Given the description of an element on the screen output the (x, y) to click on. 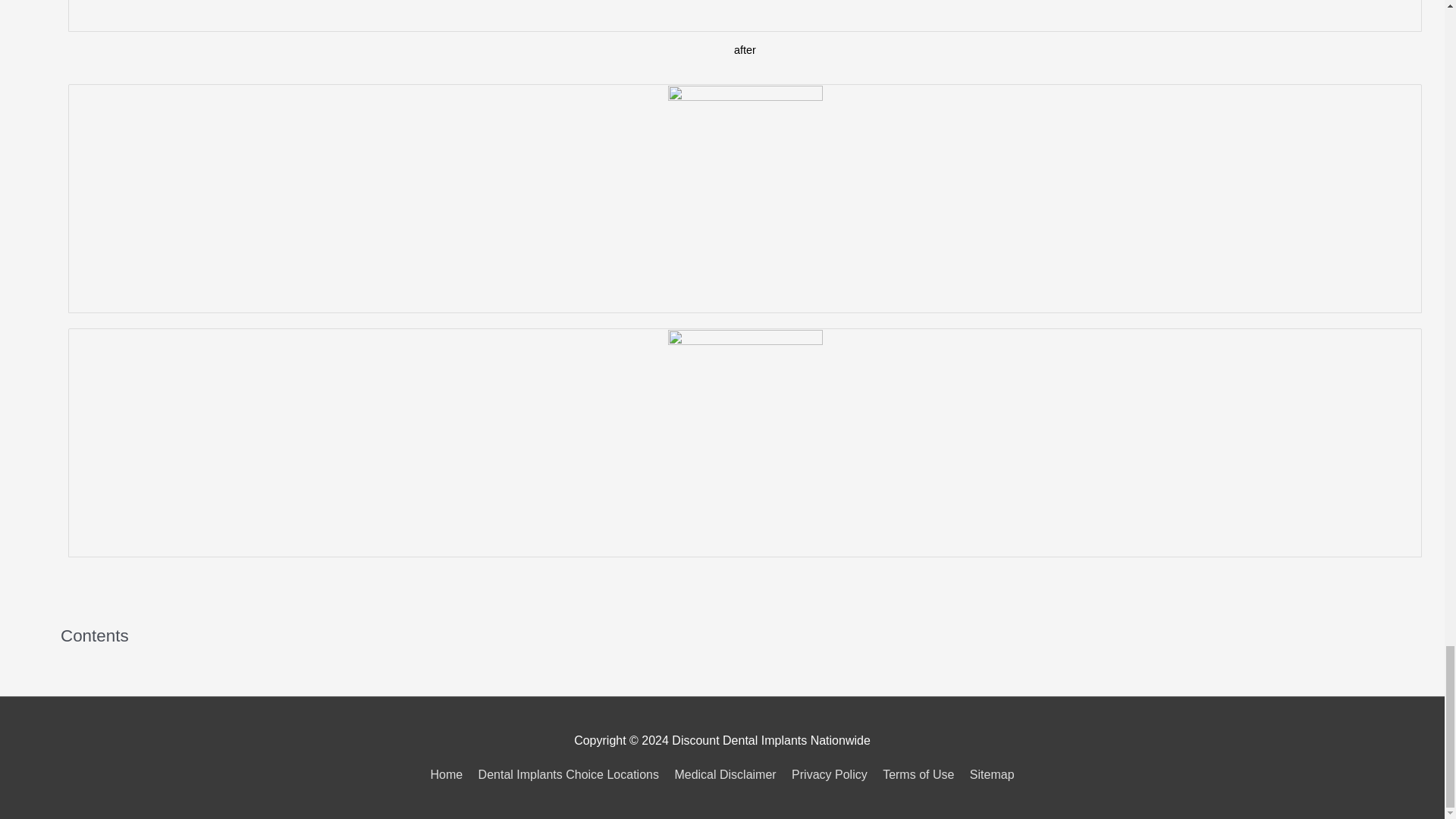
Sitemap (988, 774)
Dental Implants Choice Locations (568, 774)
Medical Disclaimer (724, 774)
Terms of Use (917, 774)
Privacy Policy (829, 774)
Home (448, 774)
